Given the description of an element on the screen output the (x, y) to click on. 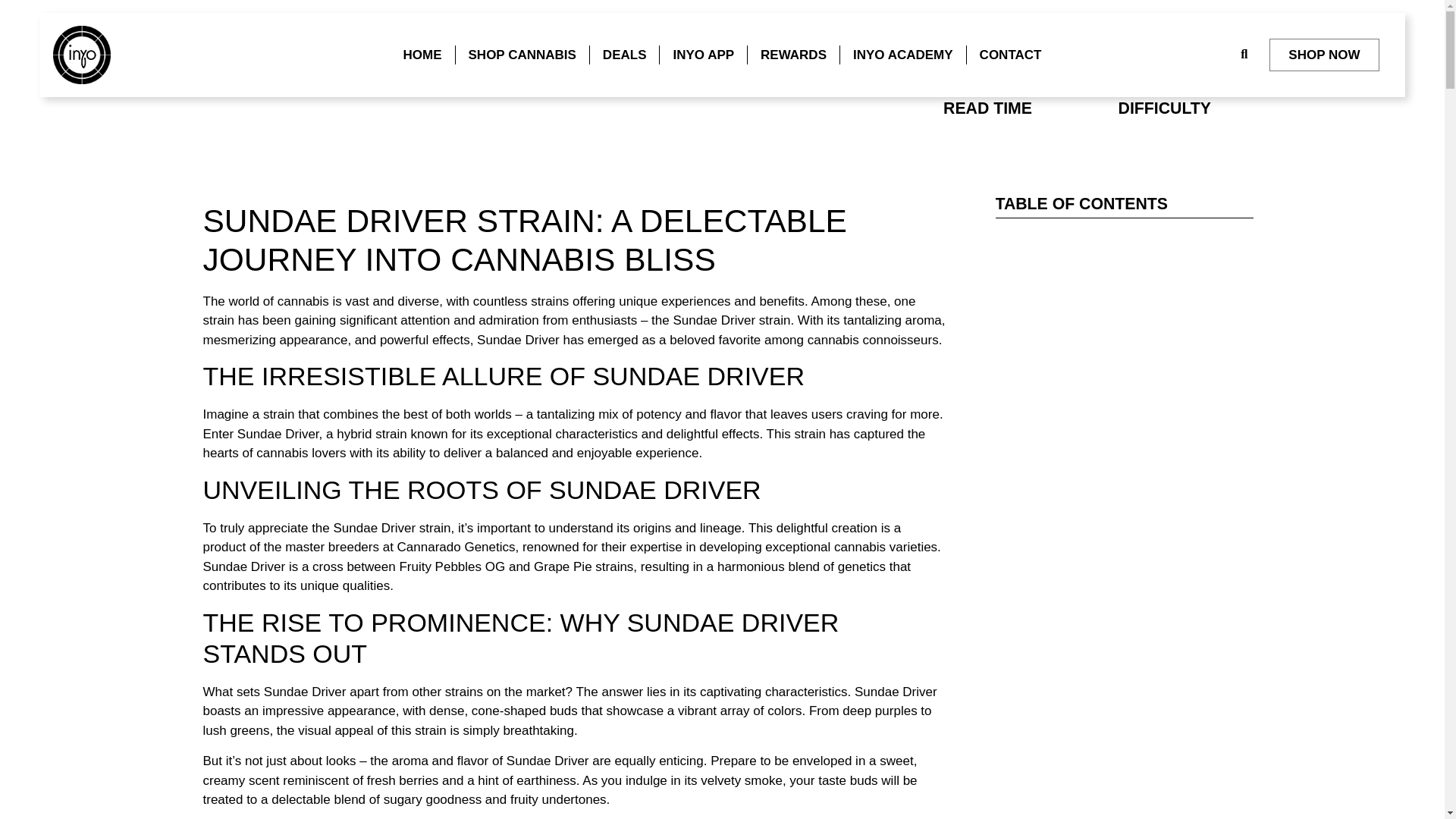
INYO APP (702, 55)
SHOP NOW (1323, 54)
SHOP CANNABIS (522, 55)
CONTACT (1010, 55)
DEALS (624, 55)
HOME (422, 55)
INYO ACADEMY (903, 55)
REWARDS (793, 55)
